Given the description of an element on the screen output the (x, y) to click on. 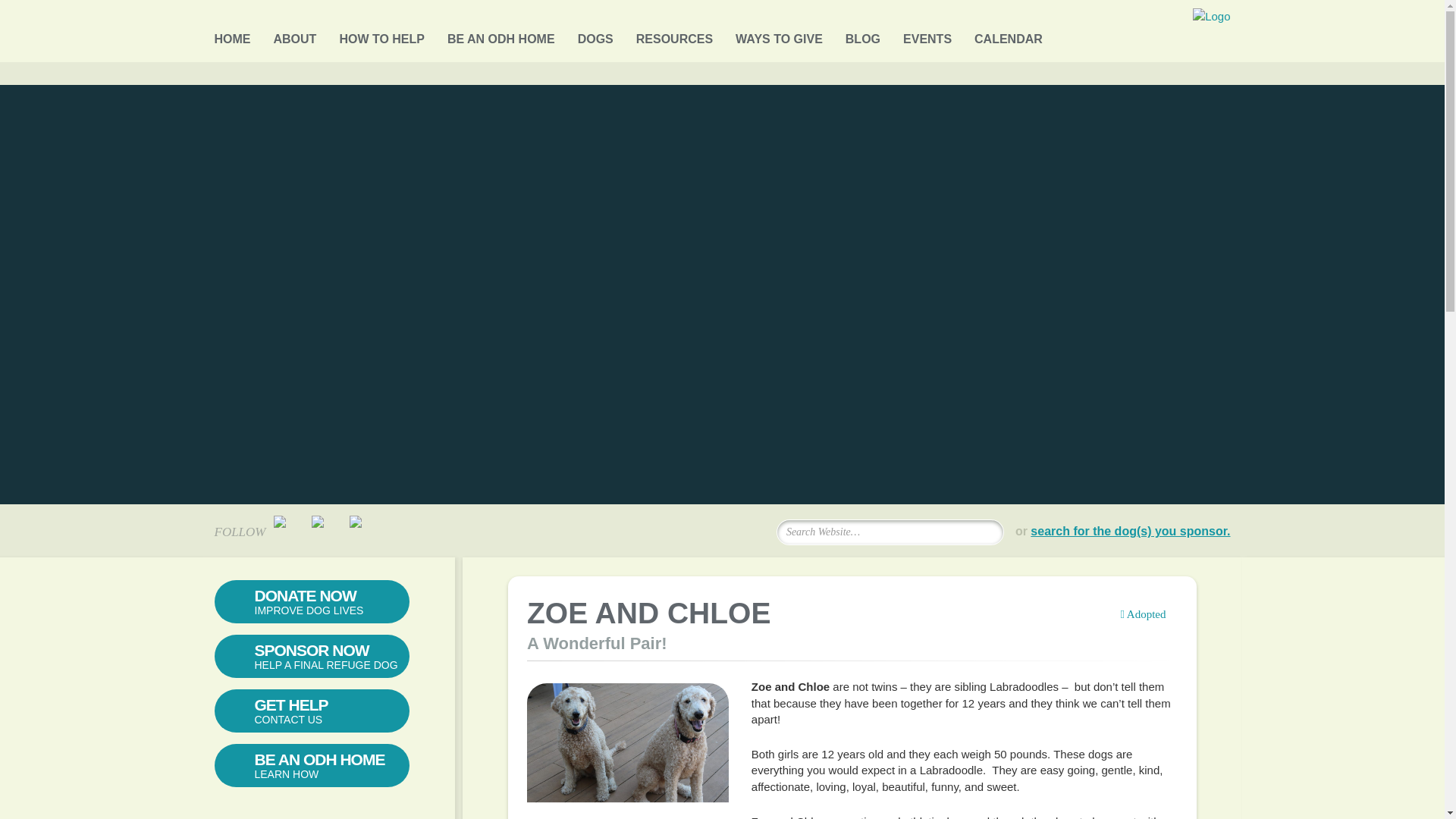
HOME (232, 34)
ABOUT (294, 34)
RESOURCES (674, 34)
CALENDAR (1008, 34)
Be An ODH Home (500, 34)
DOGS (595, 34)
WAYS TO GIVE (778, 34)
How To Help (382, 34)
HOW TO HELP (382, 34)
Dogs (595, 34)
